Given the description of an element on the screen output the (x, y) to click on. 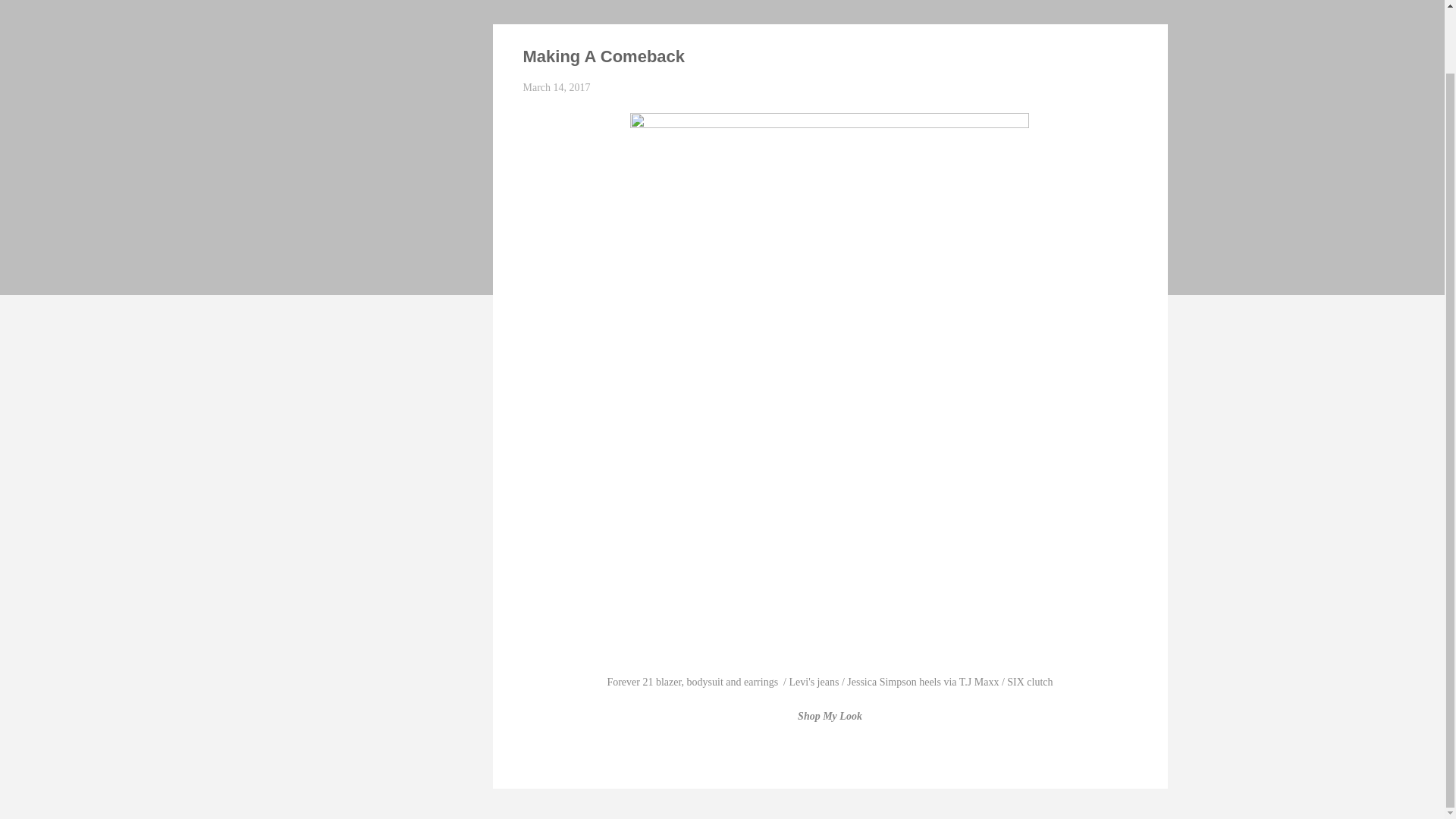
March 14, 2017 (556, 87)
permanent link (556, 87)
